Given the description of an element on the screen output the (x, y) to click on. 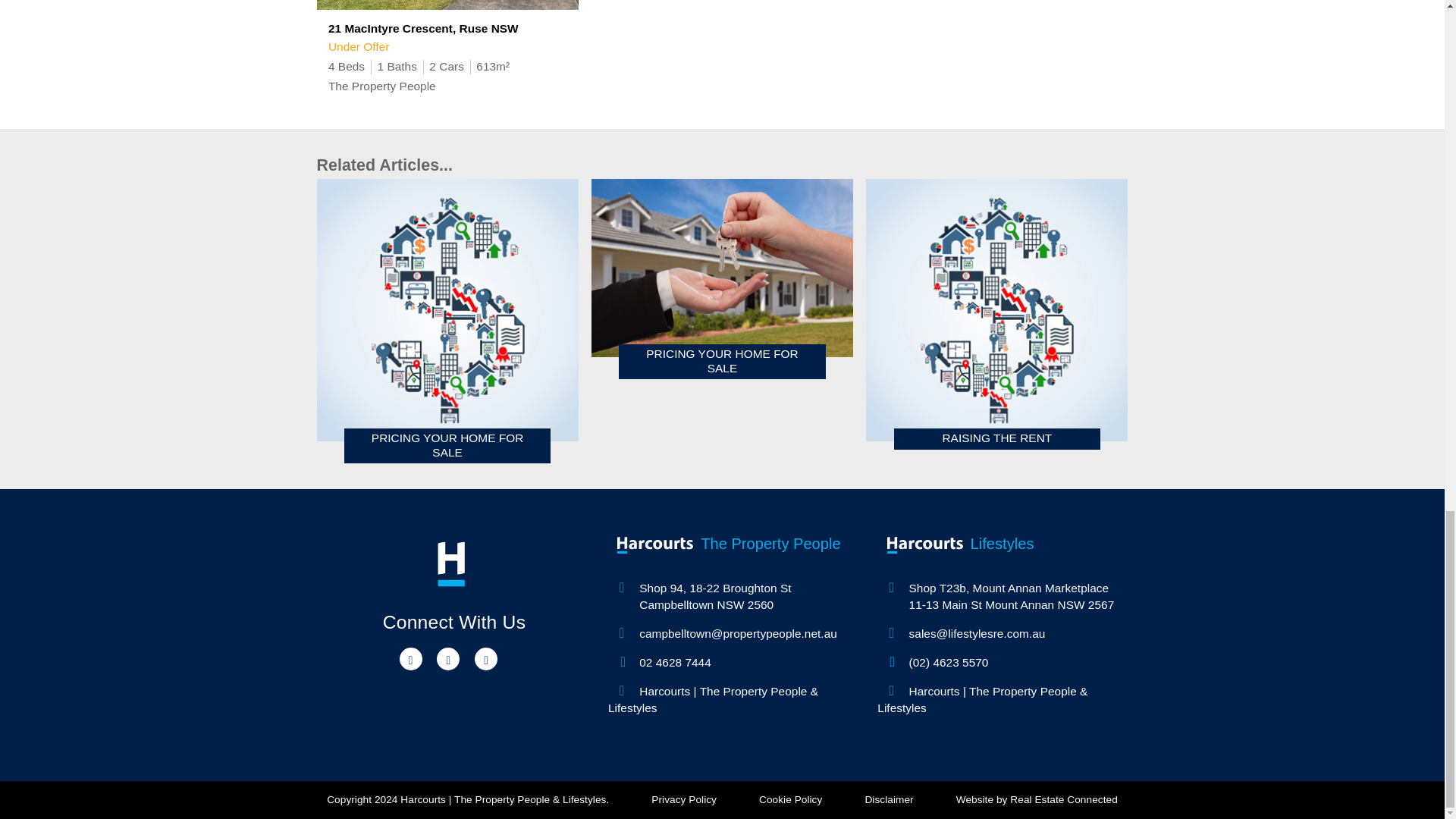
Raising the rent (996, 313)
Pricing your home for sale (447, 321)
Pricing your home for sale (722, 278)
Real Estate Connected (1063, 799)
